Given the description of an element on the screen output the (x, y) to click on. 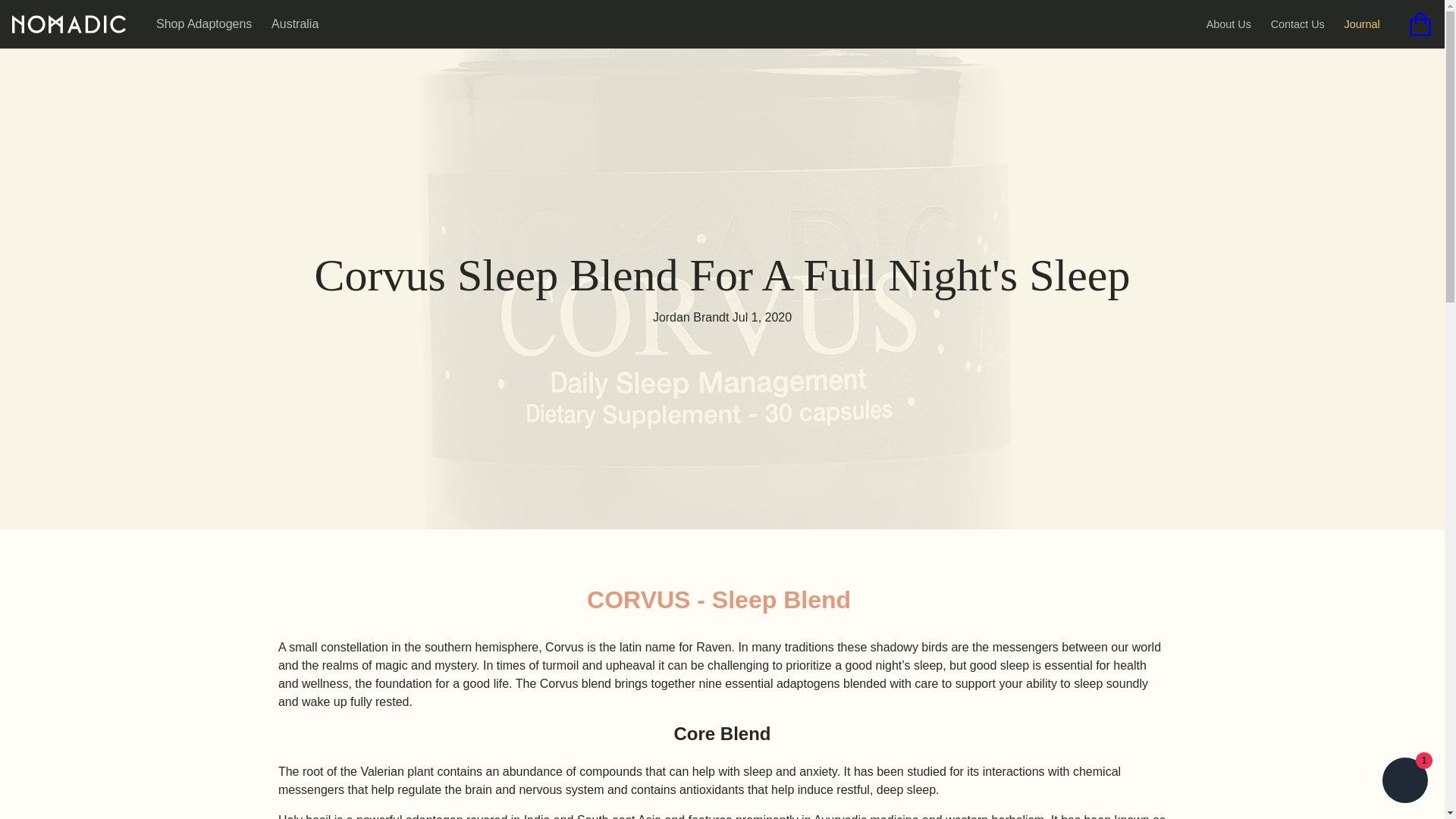
Shop Adaptogens (203, 23)
Shopping Cart Icon (1419, 24)
Nomadic Effects Logo (68, 22)
Contact Us (1297, 24)
CORVUS - Sleep Blend (718, 599)
Nomadic Effects Logo (68, 23)
About Us (1228, 24)
Journal (1361, 24)
Australia (294, 23)
Shopify online store chat (1404, 781)
